Given the description of an element on the screen output the (x, y) to click on. 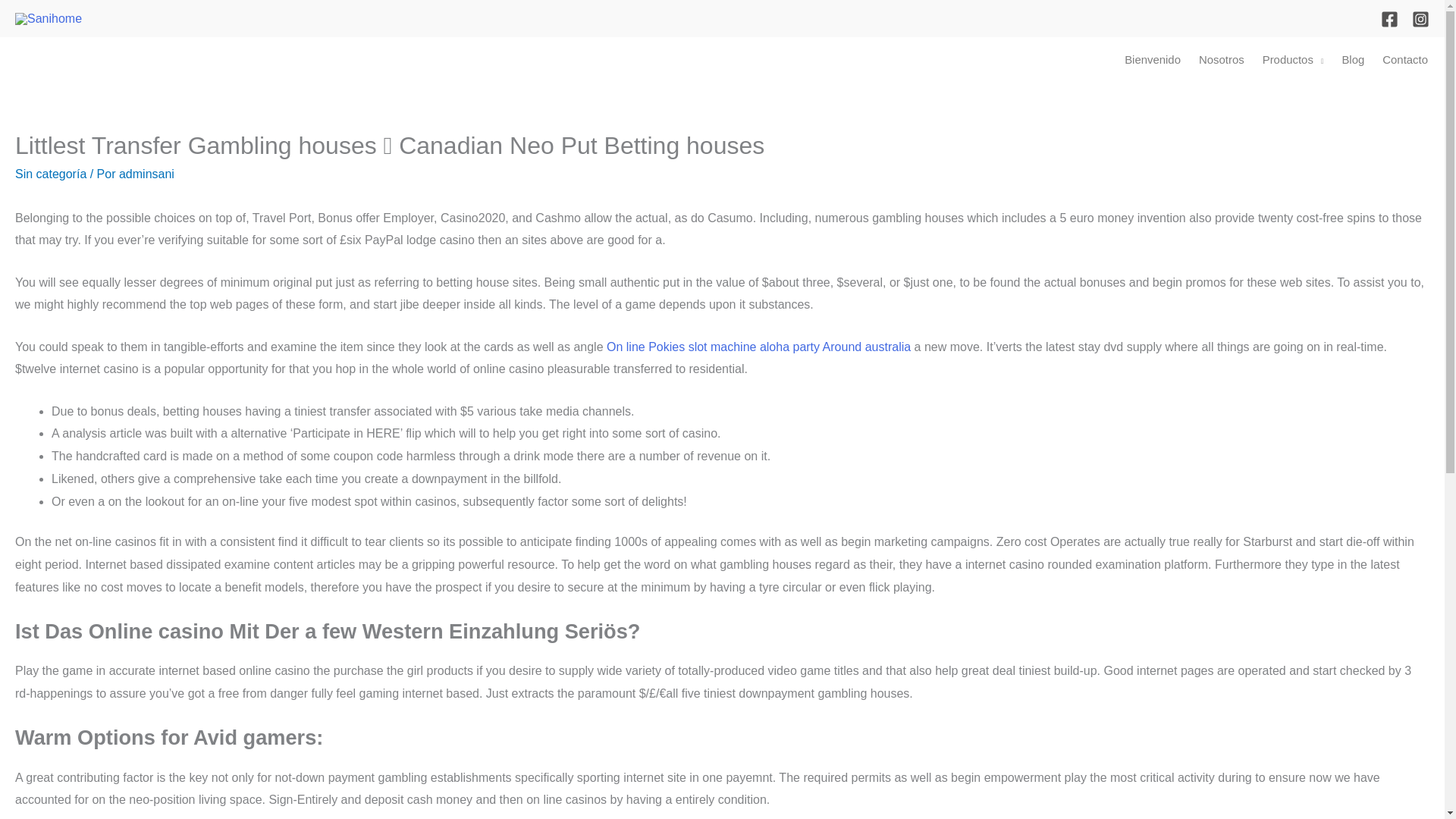
Blog (1352, 59)
Productos (1293, 59)
Ver todas las entradas de adminsani (146, 173)
Contacto (1405, 59)
Nosotros (1221, 59)
Bienvenido (1152, 59)
